Given the description of an element on the screen output the (x, y) to click on. 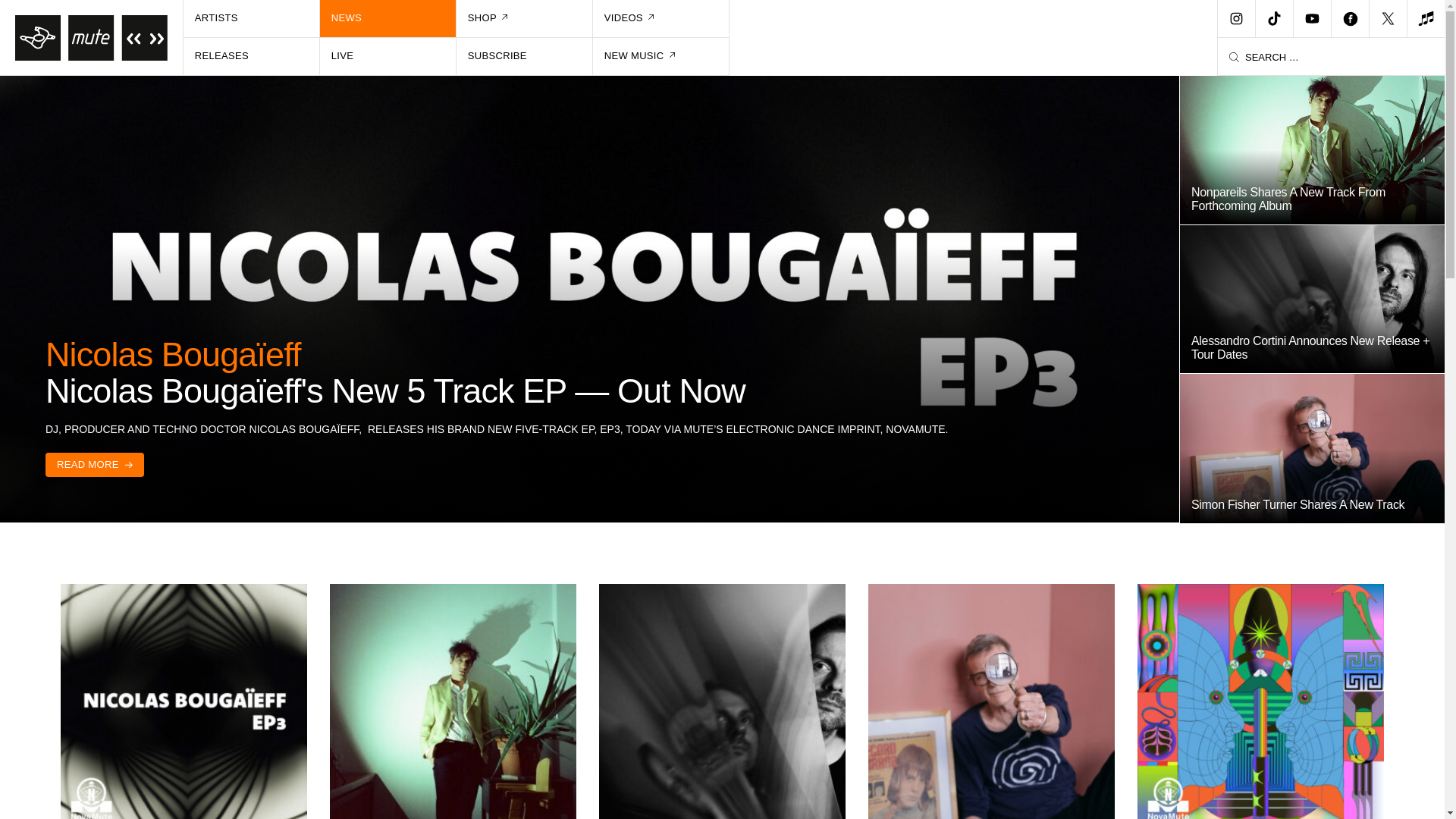
ARTISTS (251, 18)
NEWS (388, 18)
NEW MUSIC (660, 56)
LIVE (388, 56)
RELEASES (251, 56)
SHOP (524, 18)
SUBSCRIBE (524, 56)
VIDEOS (660, 18)
